Given the description of an element on the screen output the (x, y) to click on. 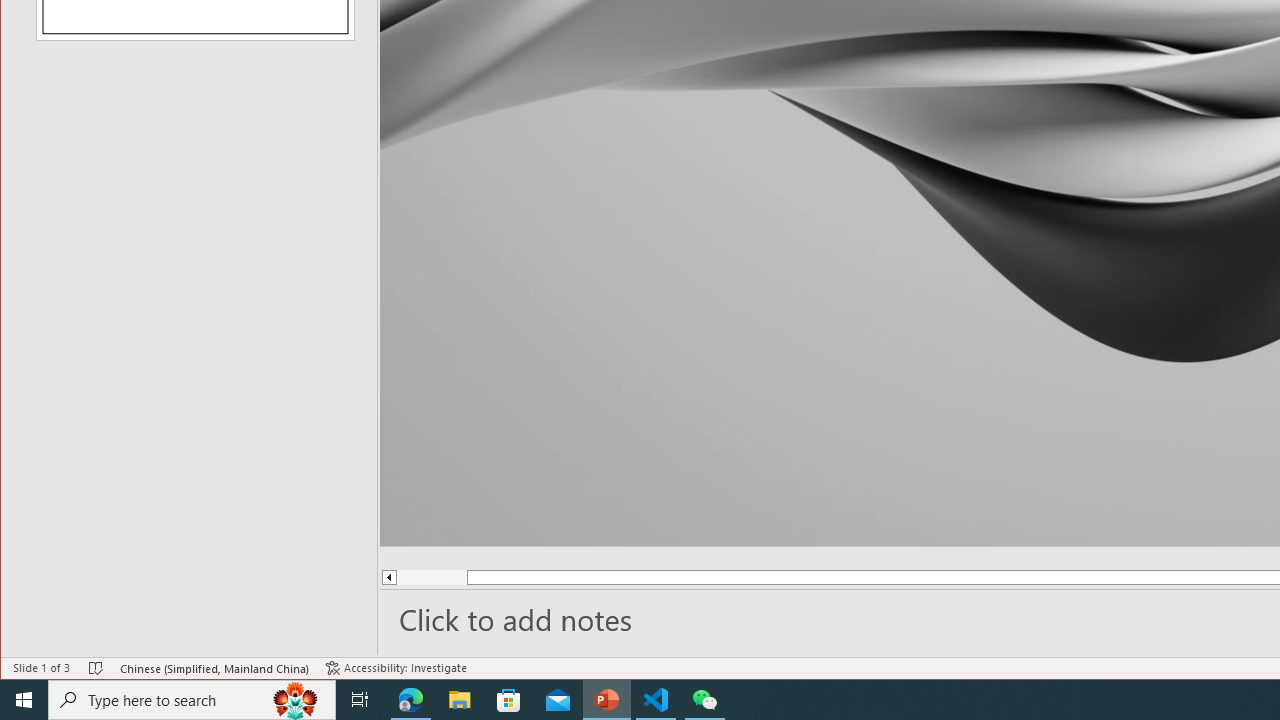
WeChat - 1 running window (704, 699)
